Given the description of an element on the screen output the (x, y) to click on. 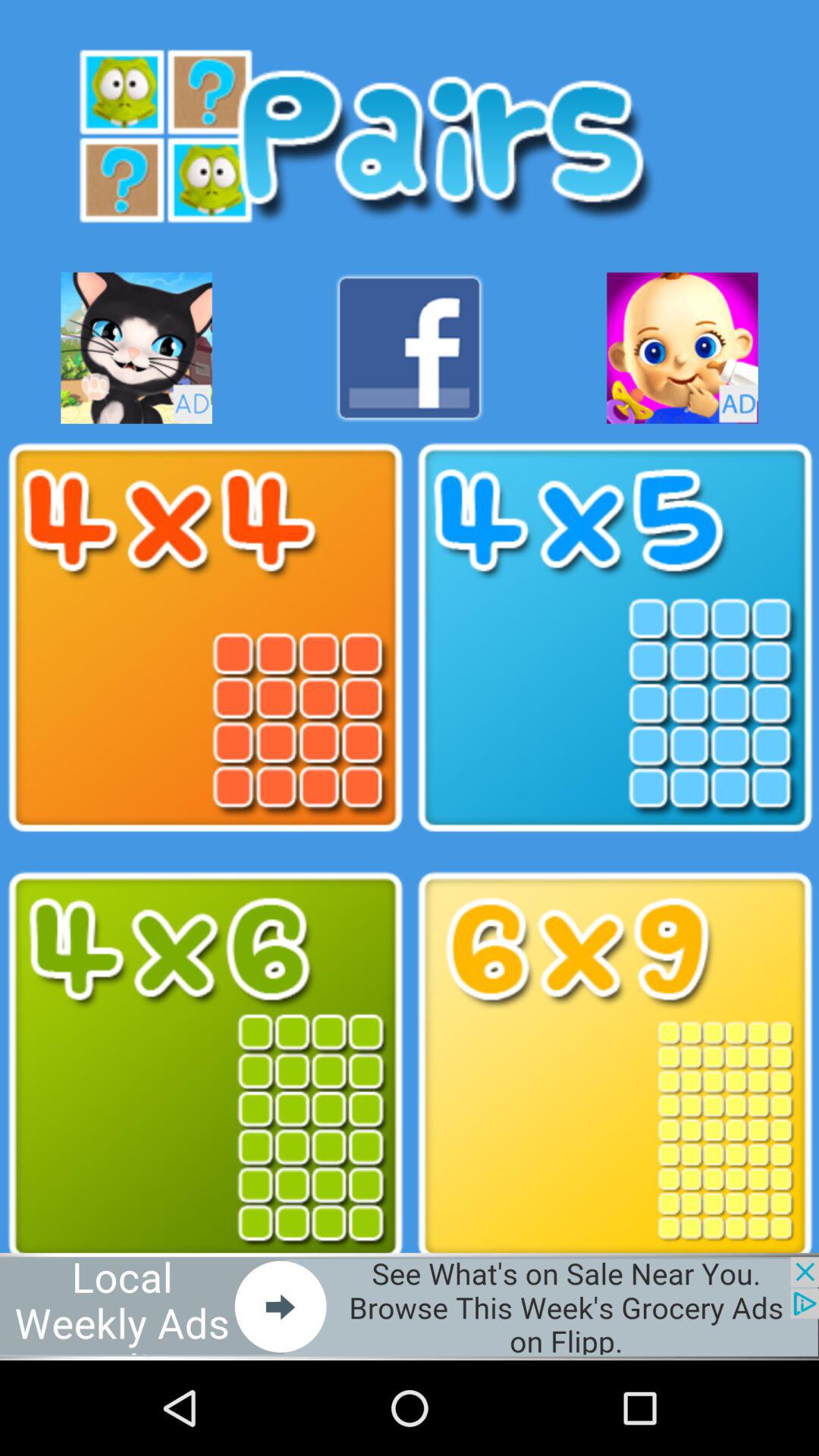
open advertisement webpage (409, 1306)
